Given the description of an element on the screen output the (x, y) to click on. 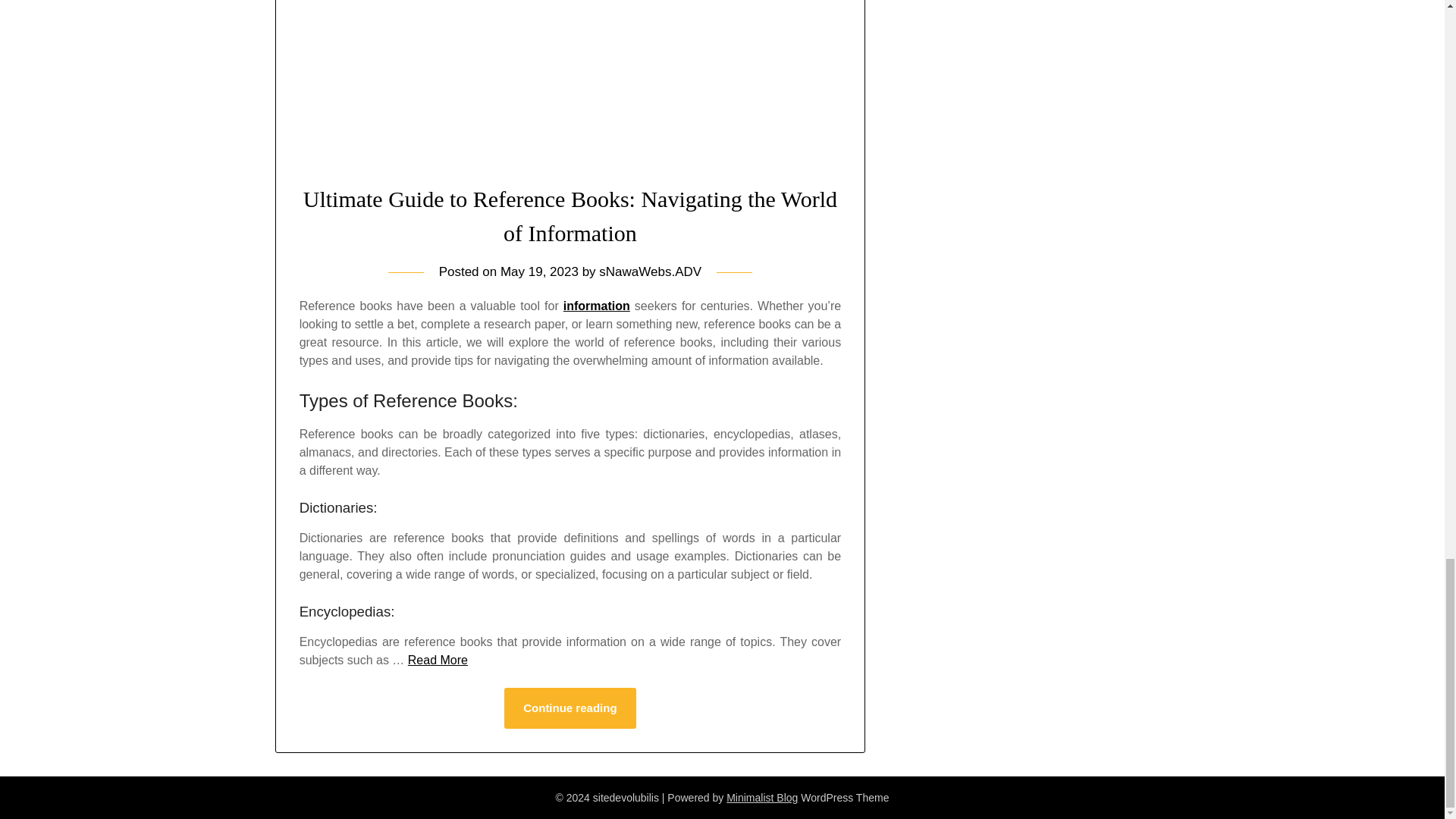
May 19, 2023 (539, 271)
Read More (437, 659)
sNawaWebs.ADV (649, 271)
Continue reading (568, 707)
information (596, 305)
